Given the description of an element on the screen output the (x, y) to click on. 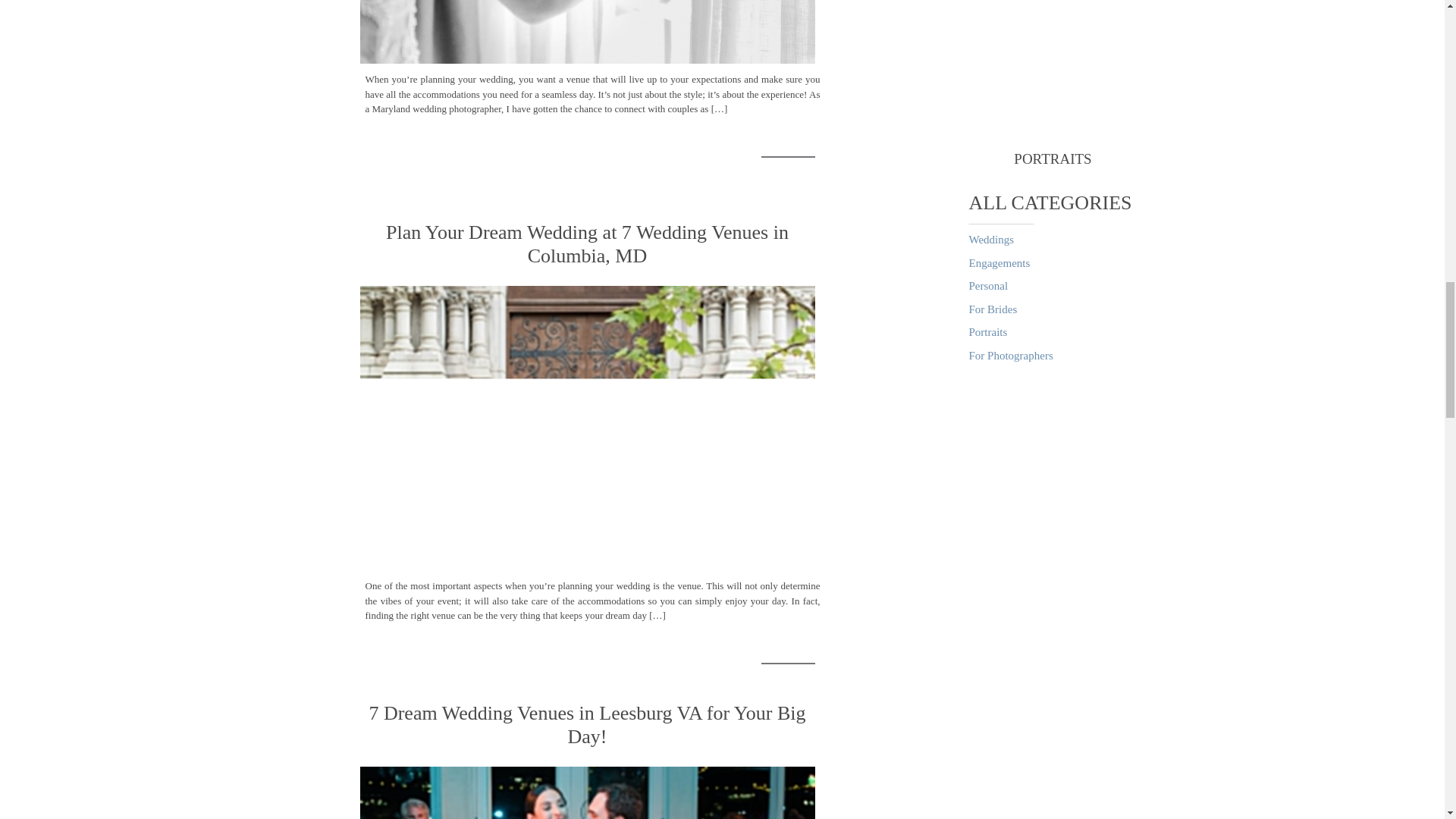
Personal (1050, 286)
PORTRAITS (1052, 159)
For Brides (1050, 309)
7 Dream Wedding Venues in Leesburg VA for Your Big Day! (586, 792)
Plan Your Dream Wedding at 7 Wedding Venues in Columbia, MD (586, 427)
Weddings (1050, 239)
Engagements (1050, 263)
Make Your Dream Wedding Come True At A Vandiver Inn Wedding (586, 31)
